Given the description of an element on the screen output the (x, y) to click on. 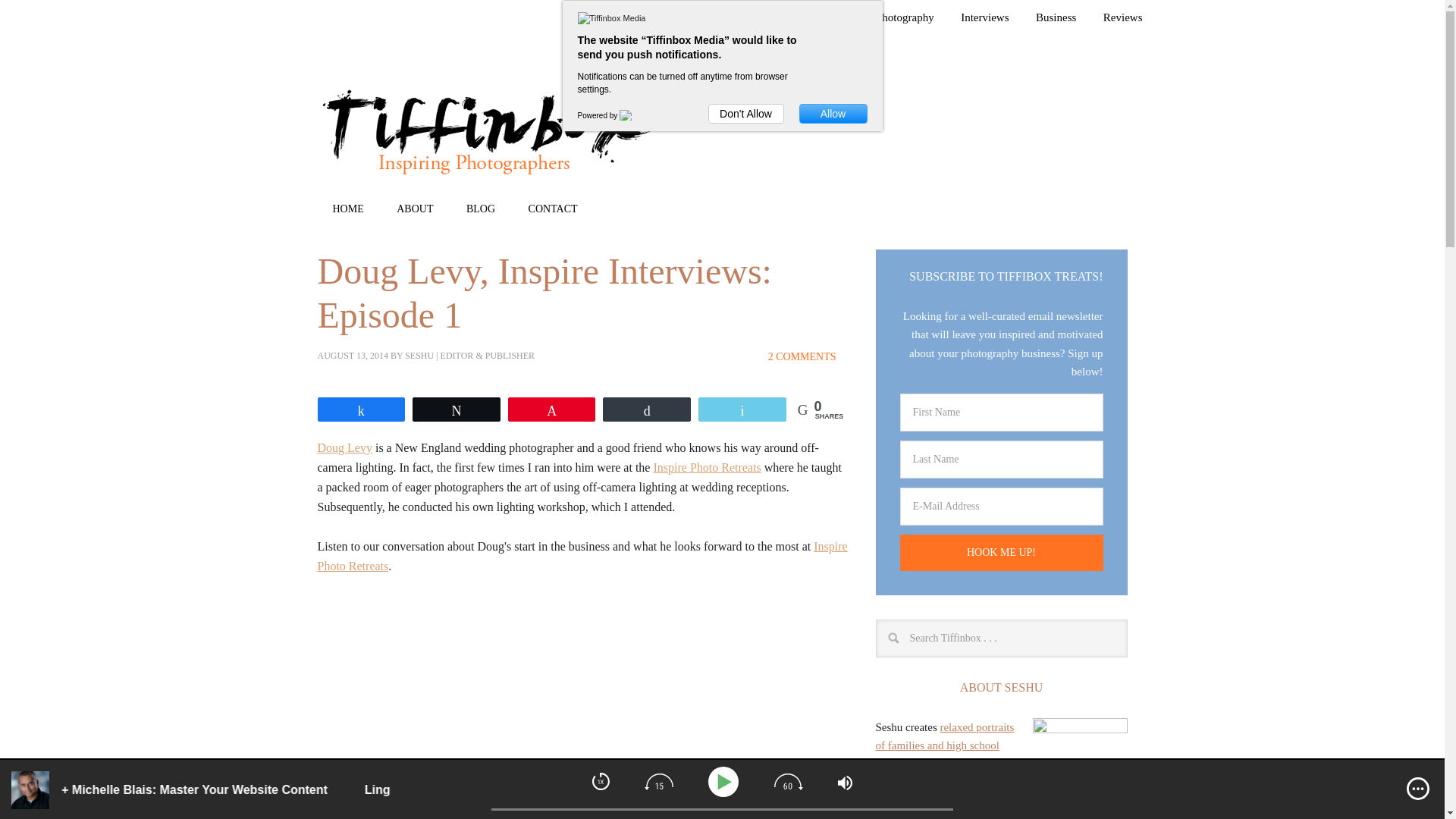
TIFFINBOX (486, 132)
BLOG (481, 208)
Reviews (1122, 18)
Forward 60 seconds (788, 781)
Hook Me Up! (1000, 551)
Speed: Normal (601, 781)
Back 15 seconds (658, 781)
Business (1055, 18)
CONTACT (552, 208)
Inspire Photo Retreats (582, 555)
More (1417, 788)
Inspire Photo Retreats (706, 467)
Interviews (984, 18)
ABOUT (414, 208)
Photography (904, 18)
